Given the description of an element on the screen output the (x, y) to click on. 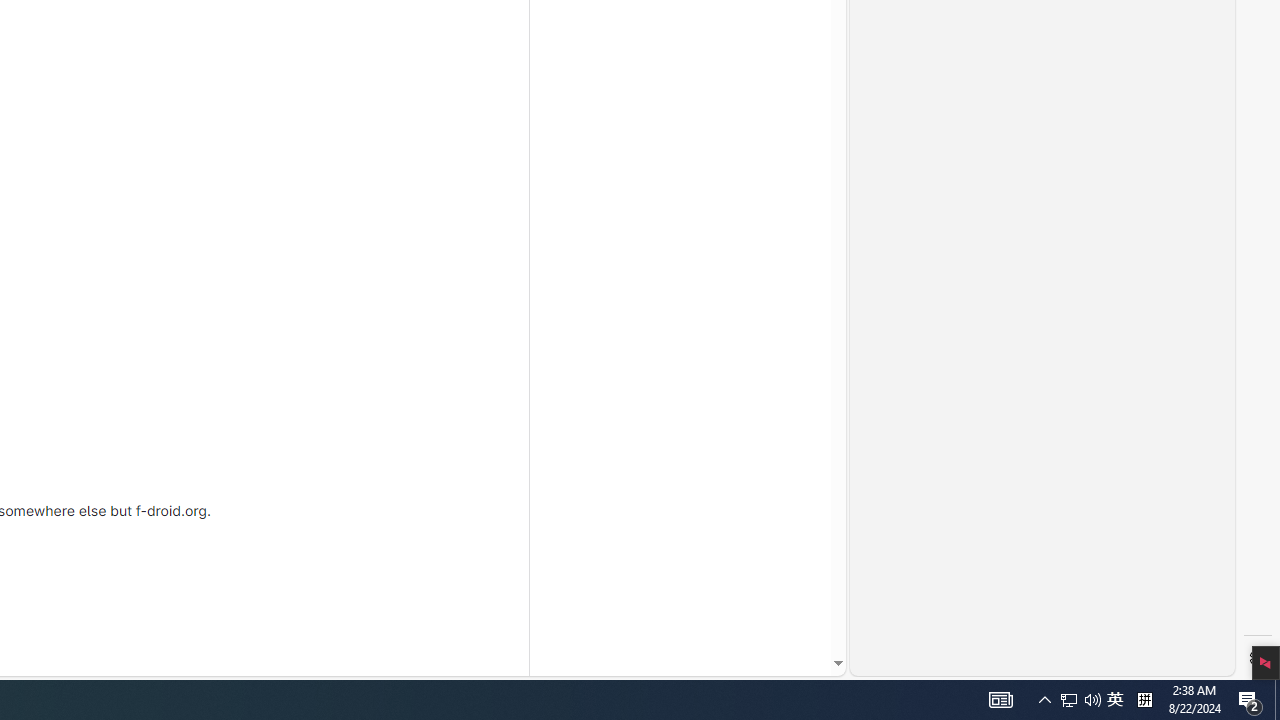
CRLF (1070, 668)
Views and More Actions... (1205, 227)
